Given the description of an element on the screen output the (x, y) to click on. 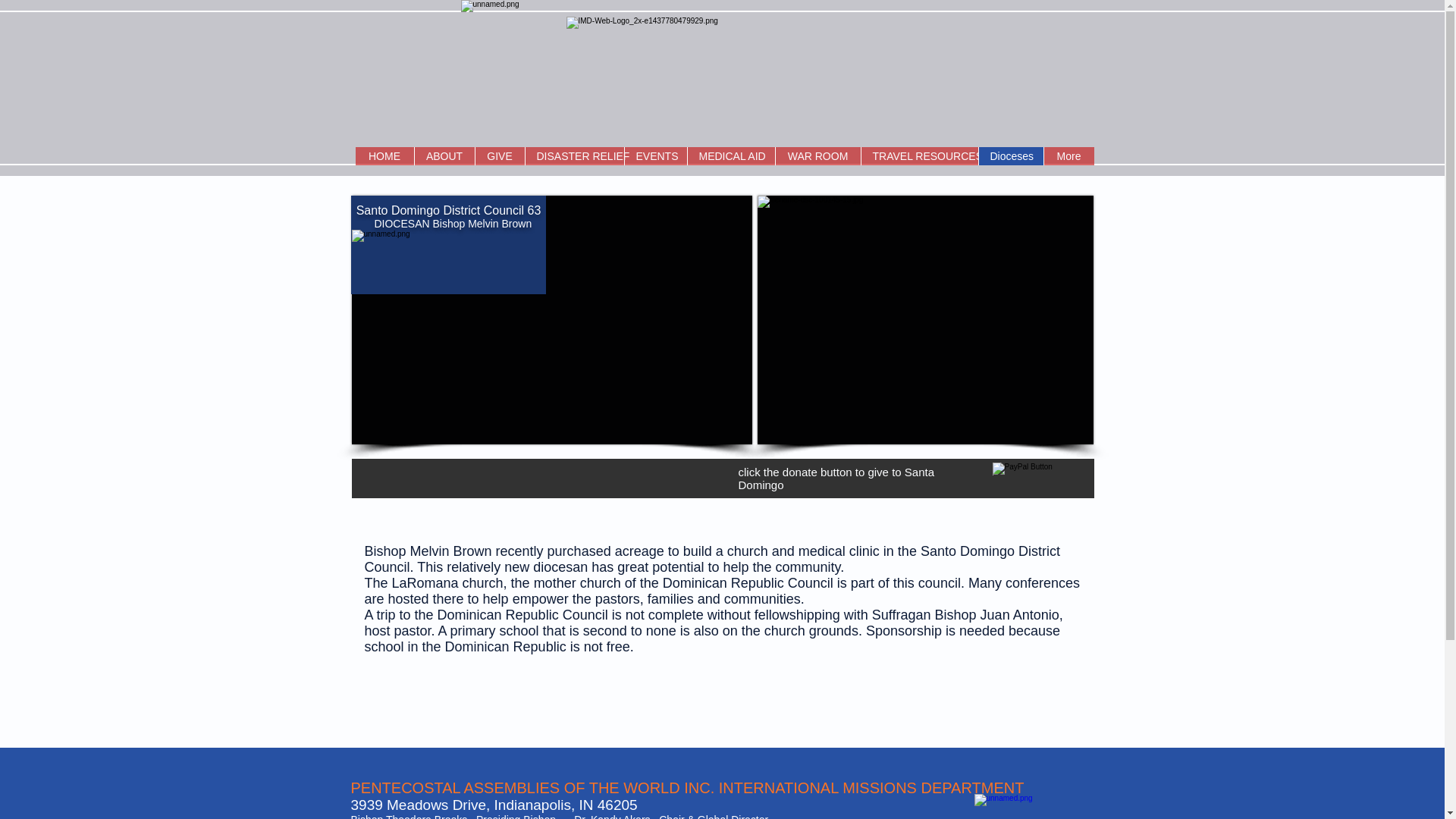
DISASTER RELIEF (574, 156)
WAR ROOM (817, 156)
GIVE (499, 156)
TRAVEL RESOURCES (918, 156)
Dioceses (1010, 156)
MEDICAL AID (730, 156)
HOME (384, 156)
EVENTS (654, 156)
ABOUT (443, 156)
